Given the description of an element on the screen output the (x, y) to click on. 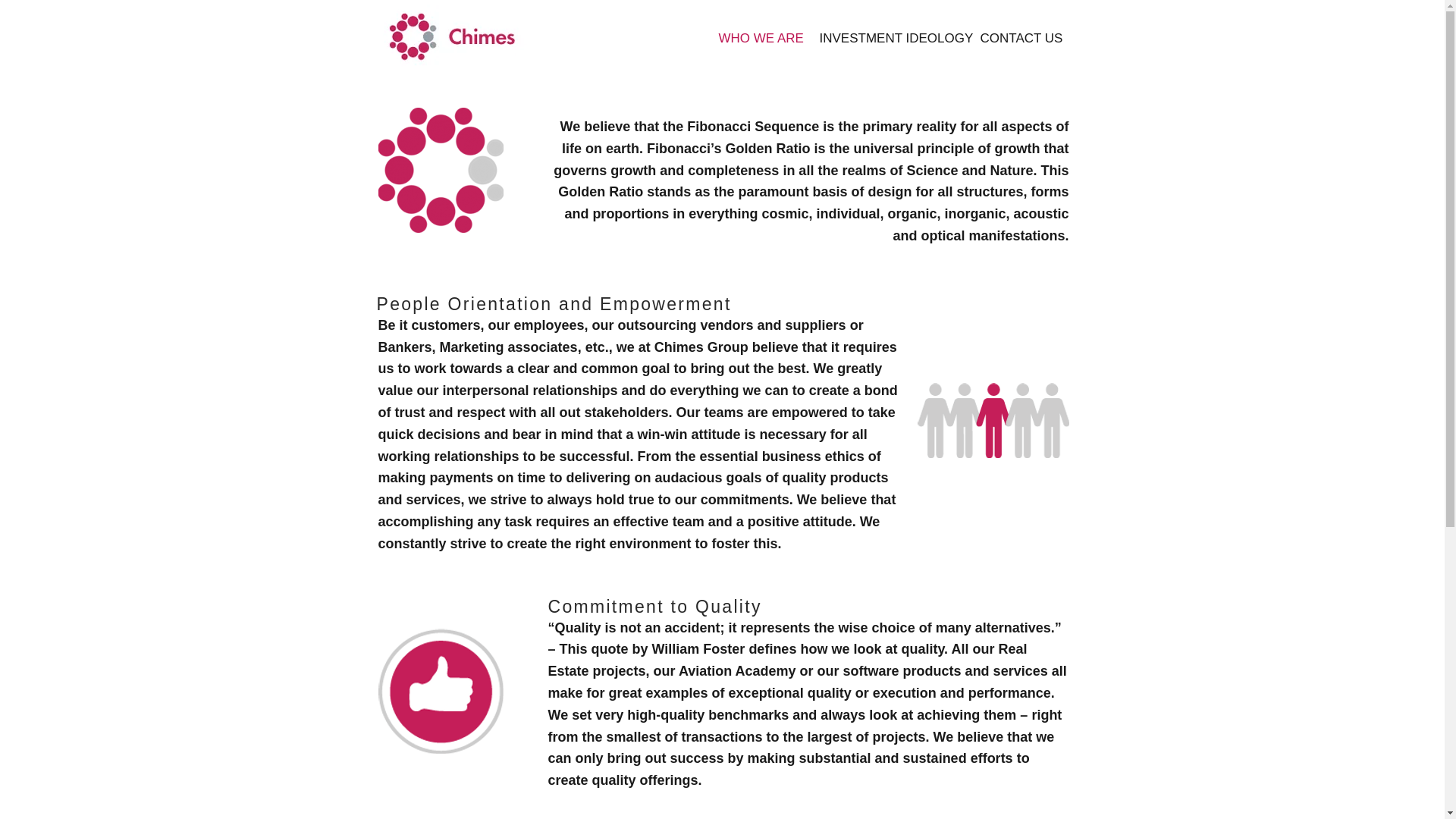
WHO WE ARE (761, 38)
CONTACT US (1020, 38)
INVESTMENT IDEOLOGY (891, 38)
